Given the description of an element on the screen output the (x, y) to click on. 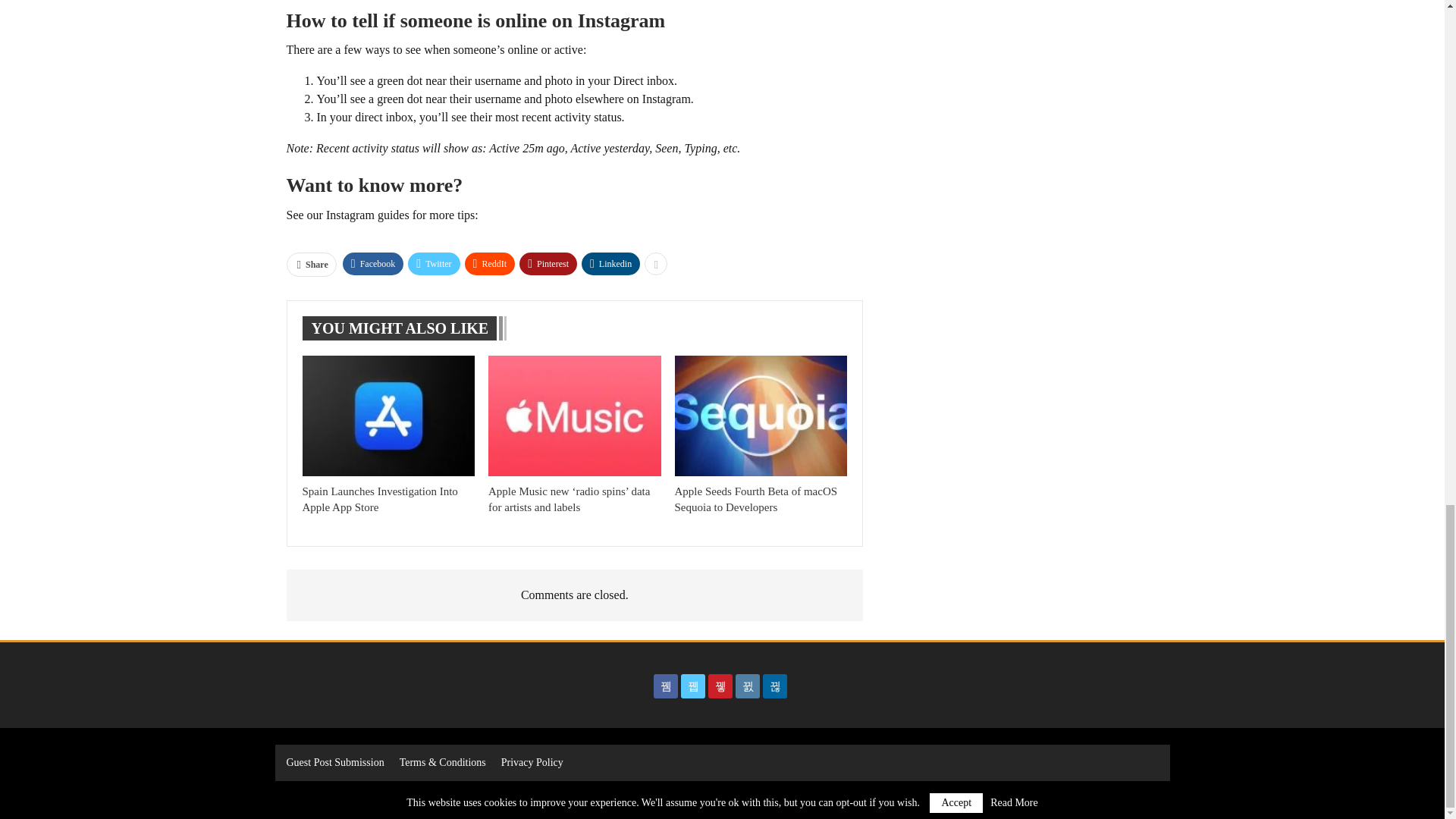
Spain Launches Investigation Into Apple App Store (387, 415)
Apple Seeds Fourth Beta of macOS Sequoia to Developers (761, 415)
Twitter (433, 263)
Linkedin (610, 263)
Spain Launches Investigation Into Apple App Store (379, 499)
Pinterest (547, 263)
Apple Seeds Fourth Beta of macOS Sequoia to Developers (756, 499)
ReddIt (489, 263)
Facebook (373, 263)
Spain Launches Investigation Into Apple App Store (379, 499)
